Given the description of an element on the screen output the (x, y) to click on. 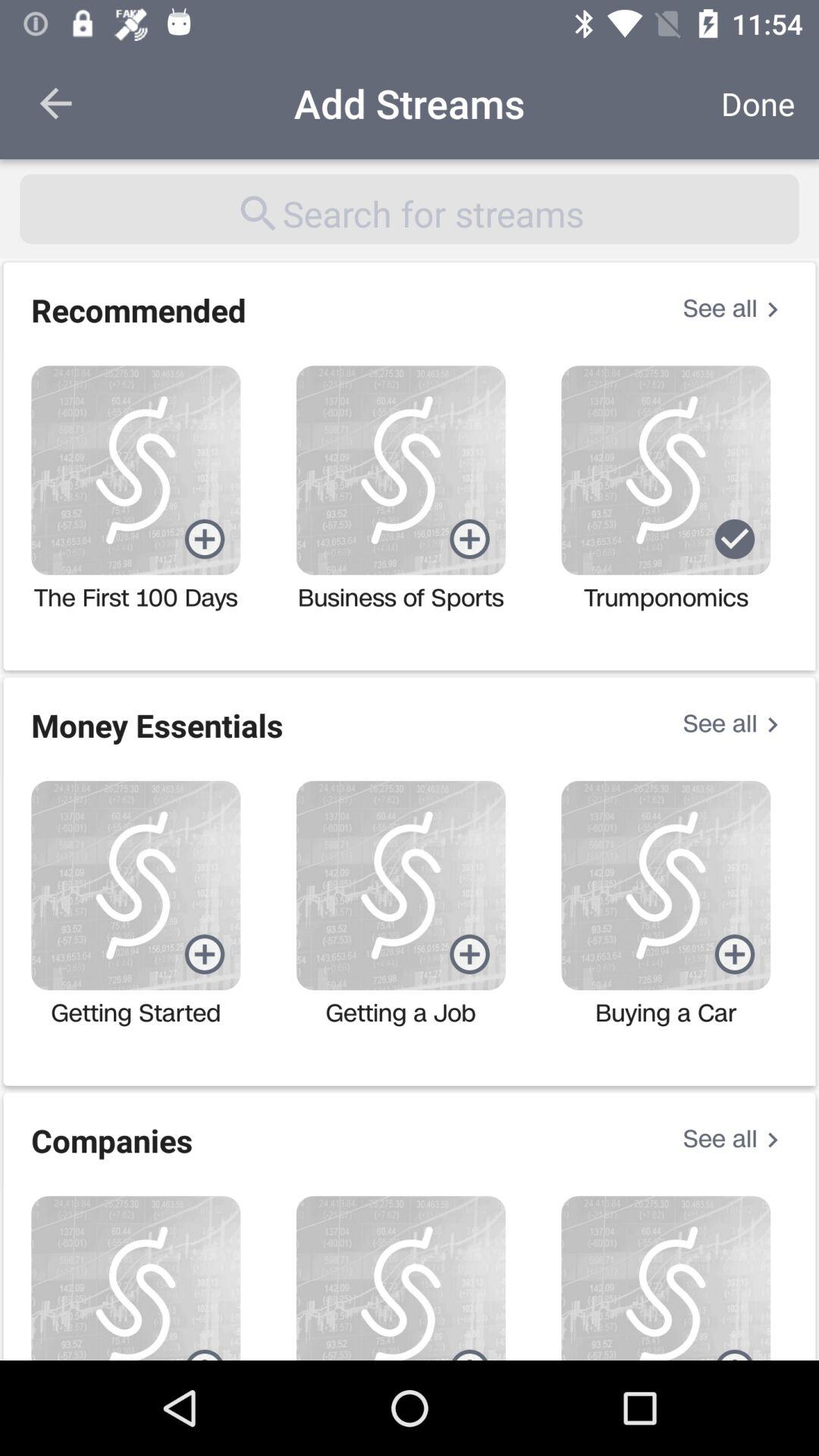
tap icon to the right of the add streams icon (758, 103)
